Given the description of an element on the screen output the (x, y) to click on. 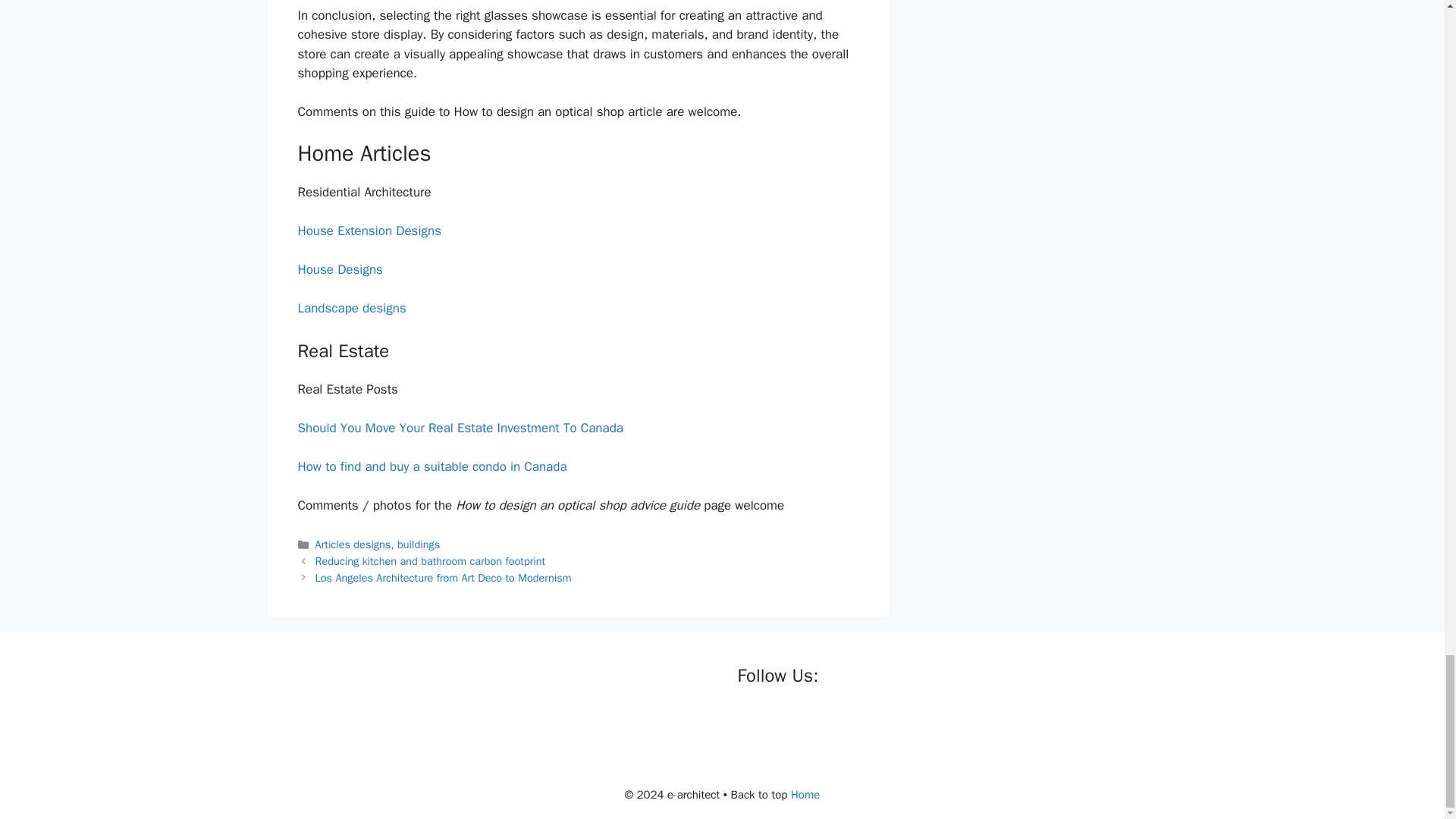
Reducing kitchen and bathroom carbon footprint (430, 561)
How to find and buy a suitable condo in Canada (431, 466)
Articles designs, buildings (378, 544)
House Designs (339, 269)
instagram (842, 722)
House Extension Designs (369, 230)
twitter (781, 722)
linkedin (811, 722)
facebook (749, 722)
Los Angeles Architecture from Art Deco to Modernism (443, 577)
